Given the description of an element on the screen output the (x, y) to click on. 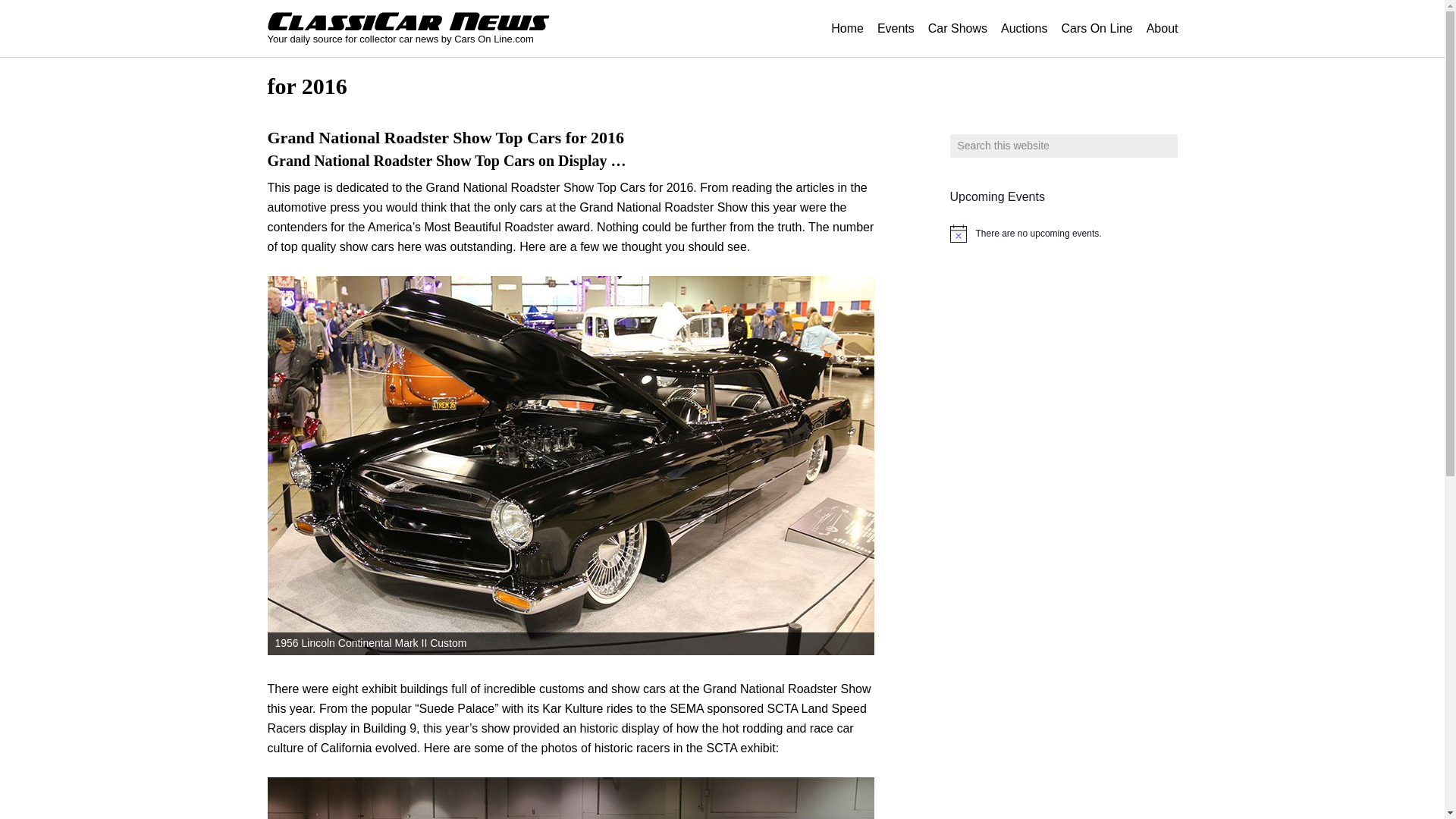
Home (847, 28)
About (1162, 28)
Events (895, 28)
Auctions (1024, 28)
Car Shows (957, 28)
Cars On Line (1096, 28)
Grand National Roadster Show Top Cars for 2016 (444, 136)
